Given the description of an element on the screen output the (x, y) to click on. 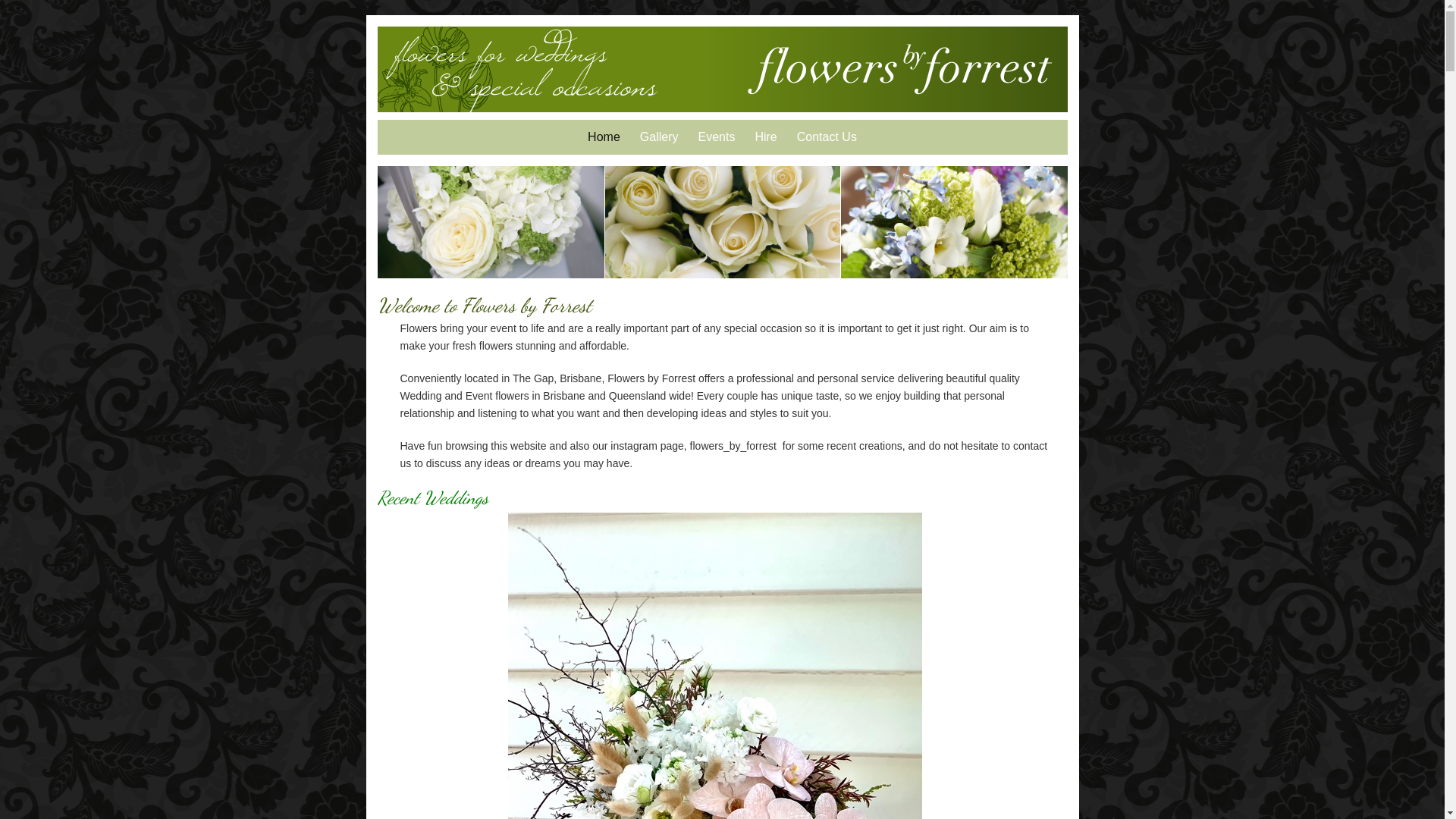
Home Element type: text (603, 136)
Contact Us Element type: text (826, 136)
Hire Element type: text (765, 136)
Flowers by Forrest Element type: text (900, 69)
Gallery Element type: text (659, 136)
Events Element type: text (715, 136)
